Given the description of an element on the screen output the (x, y) to click on. 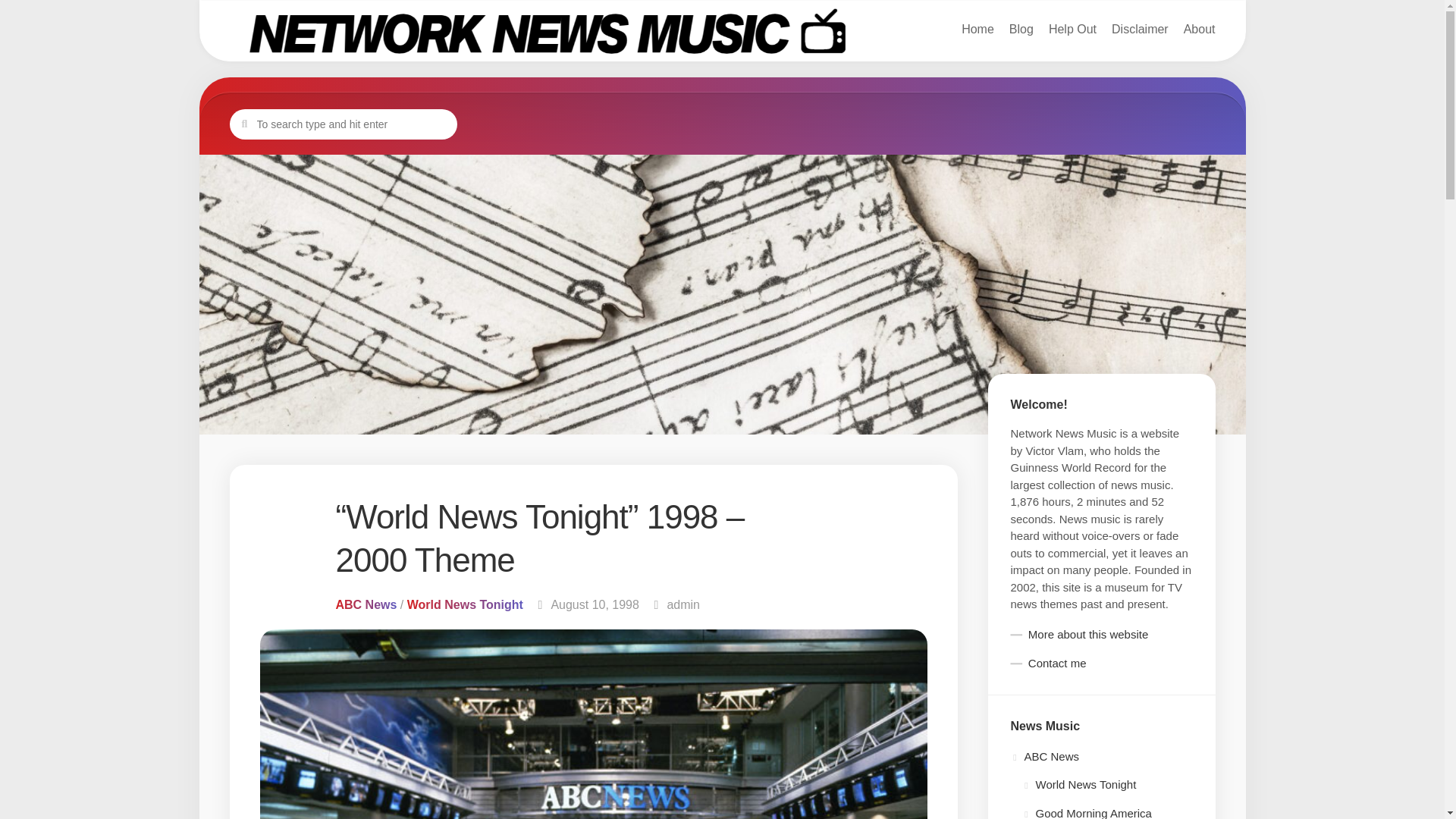
To search type and hit enter (721, 31)
Disclaimer (342, 123)
To search type and hit enter (1140, 29)
Posts by admin (342, 123)
Blog (683, 604)
Help Out (1021, 29)
About (1072, 29)
Home (1199, 29)
